Given the description of an element on the screen output the (x, y) to click on. 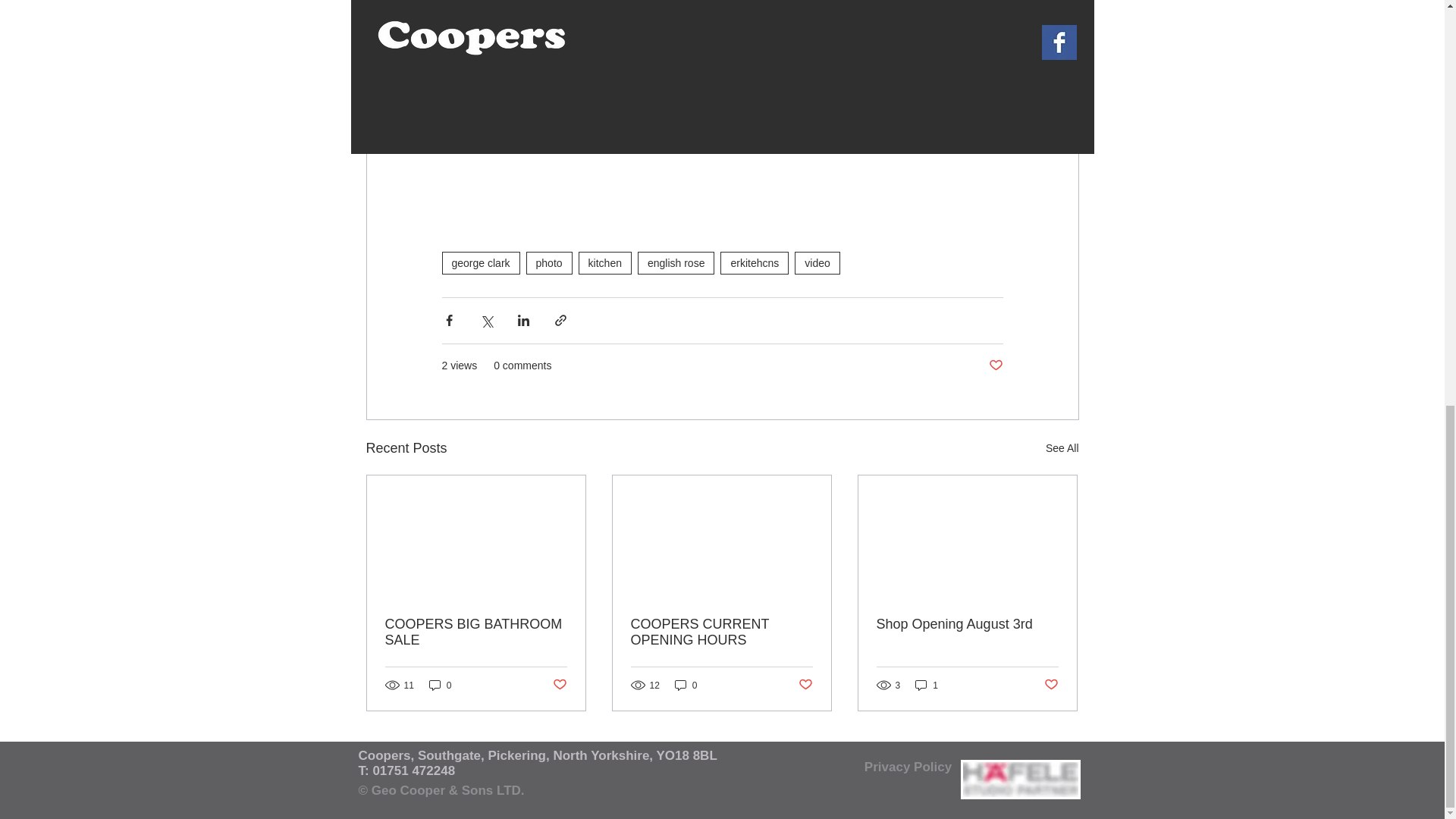
Post not marked as liked (995, 365)
george clark (480, 262)
photo (548, 262)
video (817, 262)
kitchen (604, 262)
See All (1061, 448)
english rose (675, 262)
erkitehcns (754, 262)
